Given the description of an element on the screen output the (x, y) to click on. 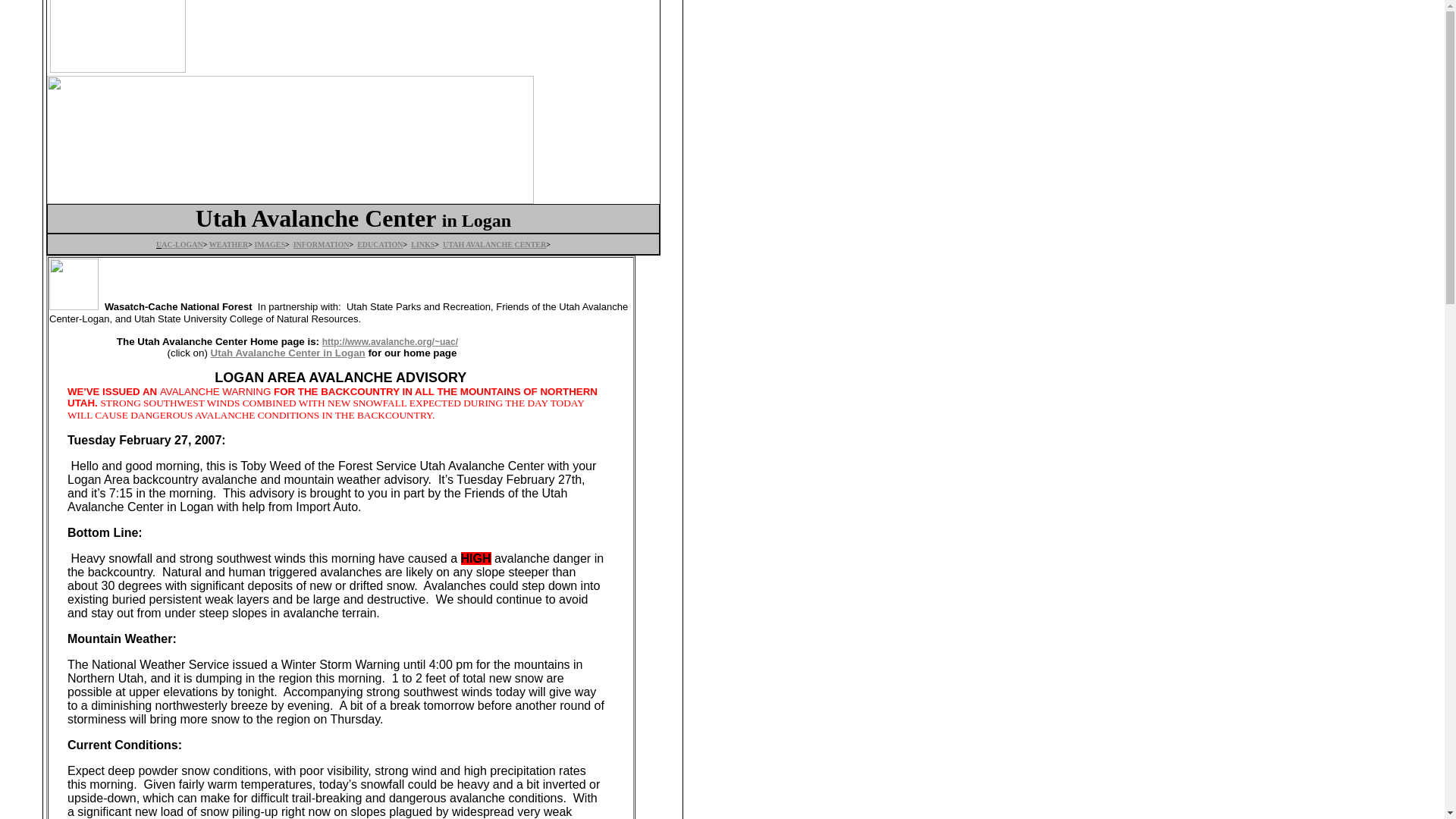
EDUCATION (379, 243)
UTAH AVALANCHE CENTER (494, 243)
IMAGES (269, 243)
LINKS (421, 243)
WEATHER (228, 243)
Utah Avalanche Center in Logan (288, 352)
INFORMATION (321, 243)
AC-LOGAN (181, 243)
